Given the description of an element on the screen output the (x, y) to click on. 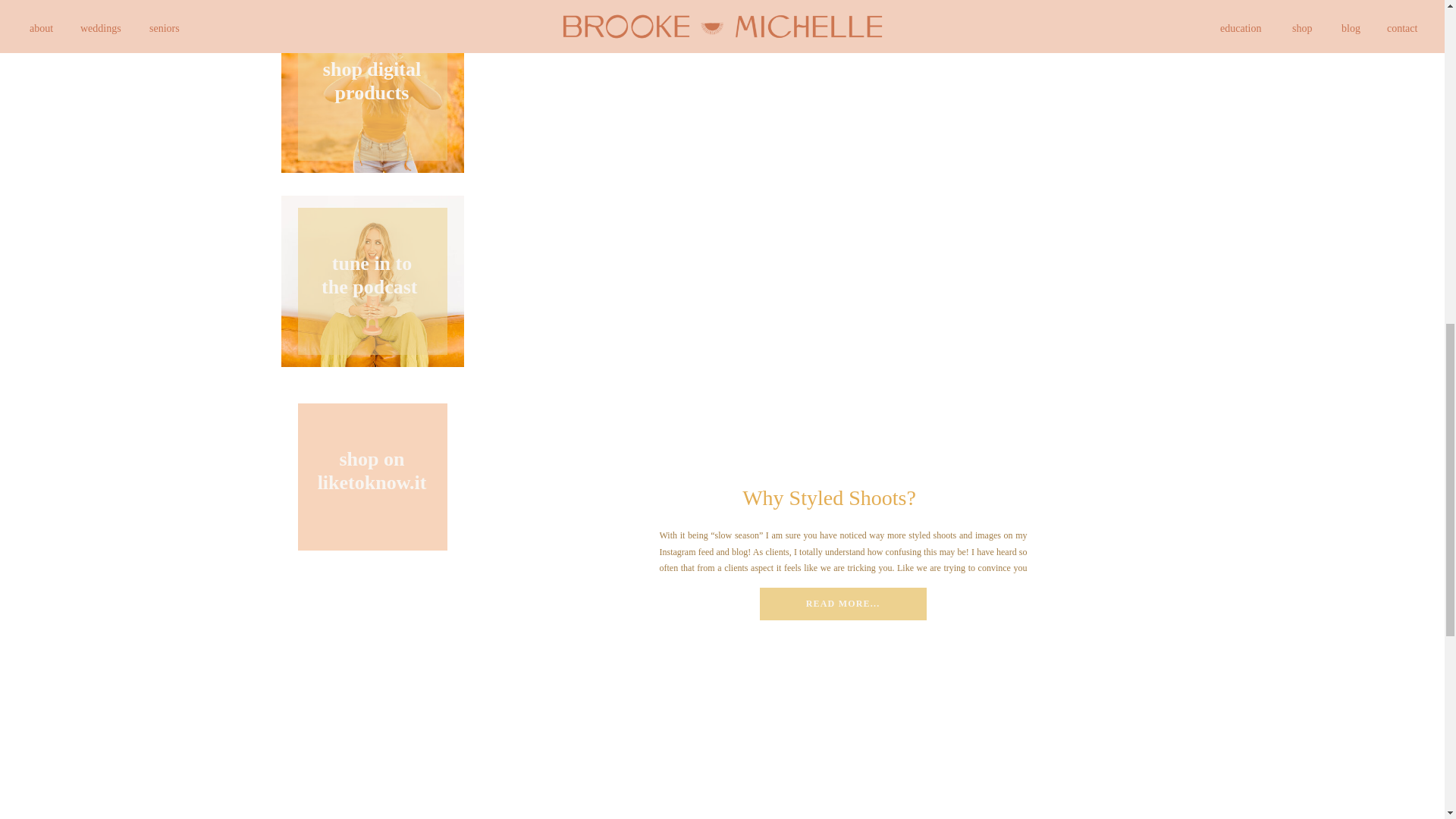
Why Styled Shoots? (843, 603)
READ MORE... (842, 603)
Why Styled Shoots? (828, 497)
shop on liketoknow.it (371, 476)
shop digital products (371, 281)
Why Styled Shoots? (371, 87)
